Given the description of an element on the screen output the (x, y) to click on. 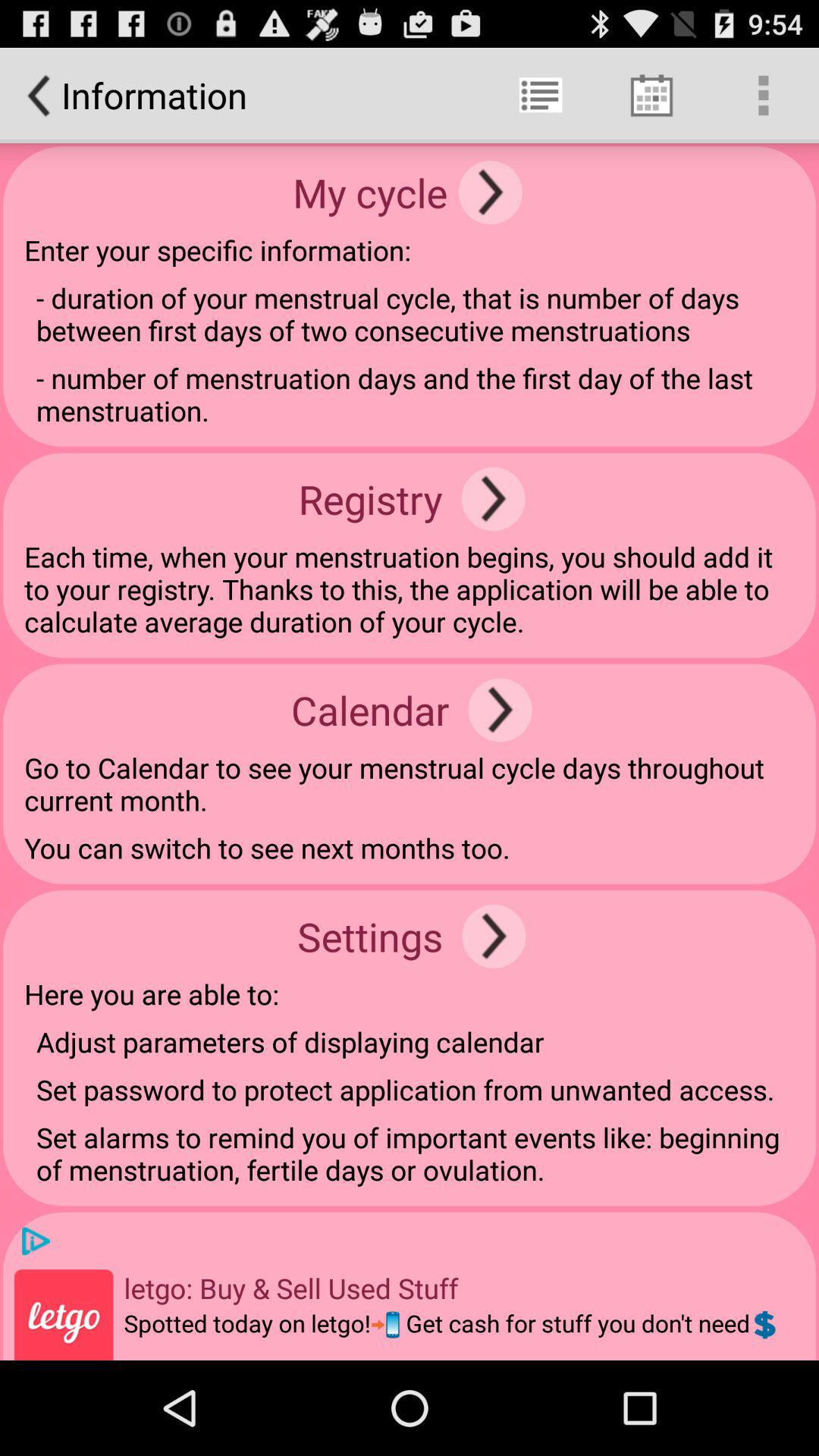
click icon to the right of calendar app (500, 710)
